Given the description of an element on the screen output the (x, y) to click on. 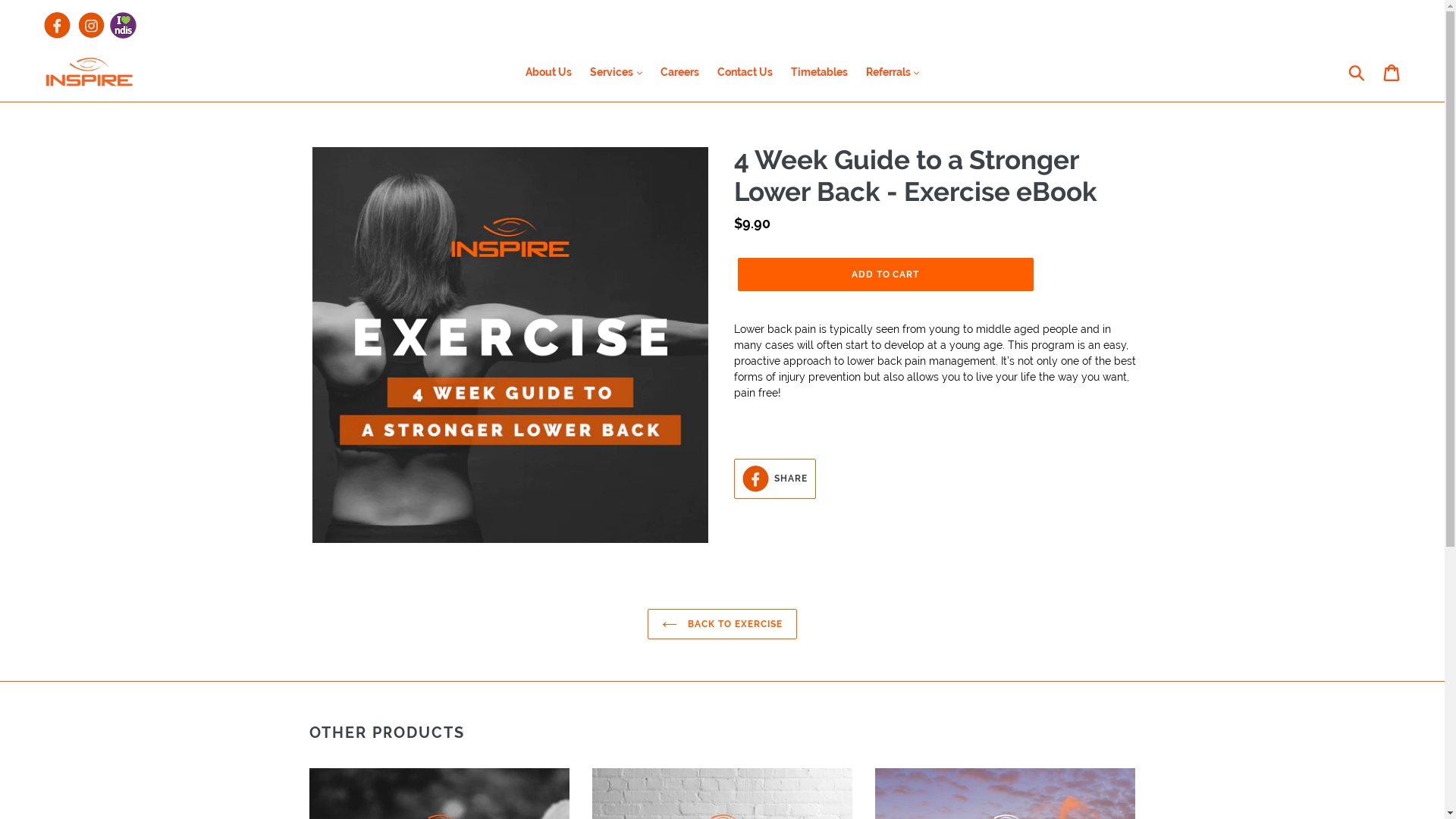
Submit Element type: text (1357, 72)
Timetables Element type: text (818, 72)
SHARE
SHARE ON FACEBOOK Element type: text (775, 478)
Cart Element type: text (1392, 72)
Contact Us Element type: text (744, 72)
BACK TO EXERCISE Element type: text (721, 623)
ADD TO CART Element type: text (884, 274)
About Us Element type: text (548, 72)
Instagram Element type: text (90, 25)
Facebook Element type: text (56, 25)
Careers Element type: text (679, 72)
